Given the description of an element on the screen output the (x, y) to click on. 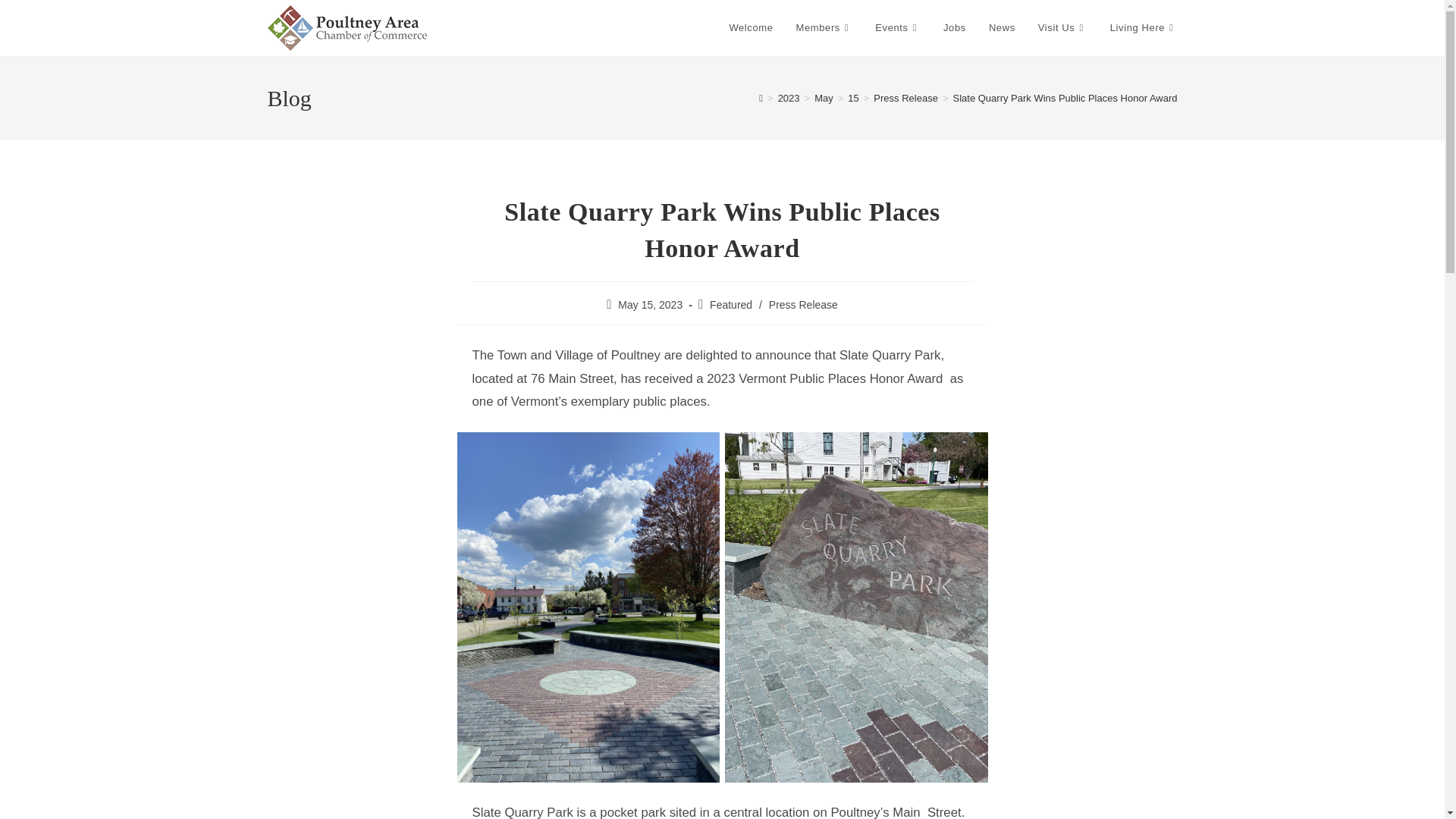
Members (824, 28)
Visit Us (1062, 28)
Living Here (1144, 28)
Welcome (750, 28)
Events (897, 28)
